Given the description of an element on the screen output the (x, y) to click on. 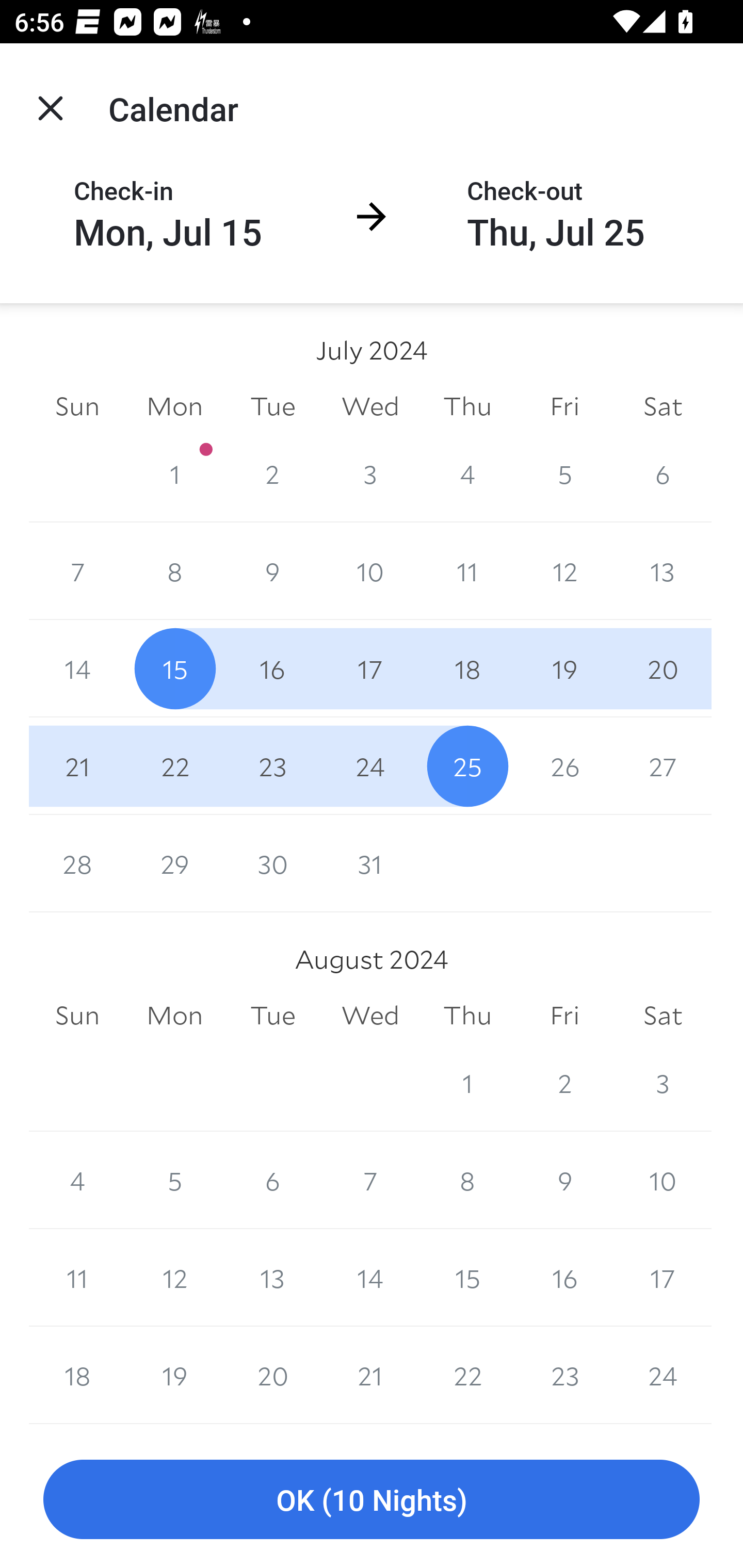
Sun (77, 405)
Mon (174, 405)
Tue (272, 405)
Wed (370, 405)
Thu (467, 405)
Fri (564, 405)
Sat (662, 405)
1 1 July 2024 (174, 473)
2 2 July 2024 (272, 473)
3 3 July 2024 (370, 473)
4 4 July 2024 (467, 473)
5 5 July 2024 (564, 473)
6 6 July 2024 (662, 473)
7 7 July 2024 (77, 570)
8 8 July 2024 (174, 570)
9 9 July 2024 (272, 570)
10 10 July 2024 (370, 570)
11 11 July 2024 (467, 570)
12 12 July 2024 (564, 570)
13 13 July 2024 (662, 570)
14 14 July 2024 (77, 668)
15 15 July 2024 (174, 668)
16 16 July 2024 (272, 668)
17 17 July 2024 (370, 668)
18 18 July 2024 (467, 668)
19 19 July 2024 (564, 668)
20 20 July 2024 (662, 668)
21 21 July 2024 (77, 766)
22 22 July 2024 (174, 766)
23 23 July 2024 (272, 766)
24 24 July 2024 (370, 766)
25 25 July 2024 (467, 766)
26 26 July 2024 (564, 766)
27 27 July 2024 (662, 766)
28 28 July 2024 (77, 863)
29 29 July 2024 (174, 863)
30 30 July 2024 (272, 863)
31 31 July 2024 (370, 863)
Sun (77, 1015)
Mon (174, 1015)
Tue (272, 1015)
Wed (370, 1015)
Thu (467, 1015)
Fri (564, 1015)
Sat (662, 1015)
1 1 August 2024 (467, 1083)
2 2 August 2024 (564, 1083)
3 3 August 2024 (662, 1083)
4 4 August 2024 (77, 1180)
